Given the description of an element on the screen output the (x, y) to click on. 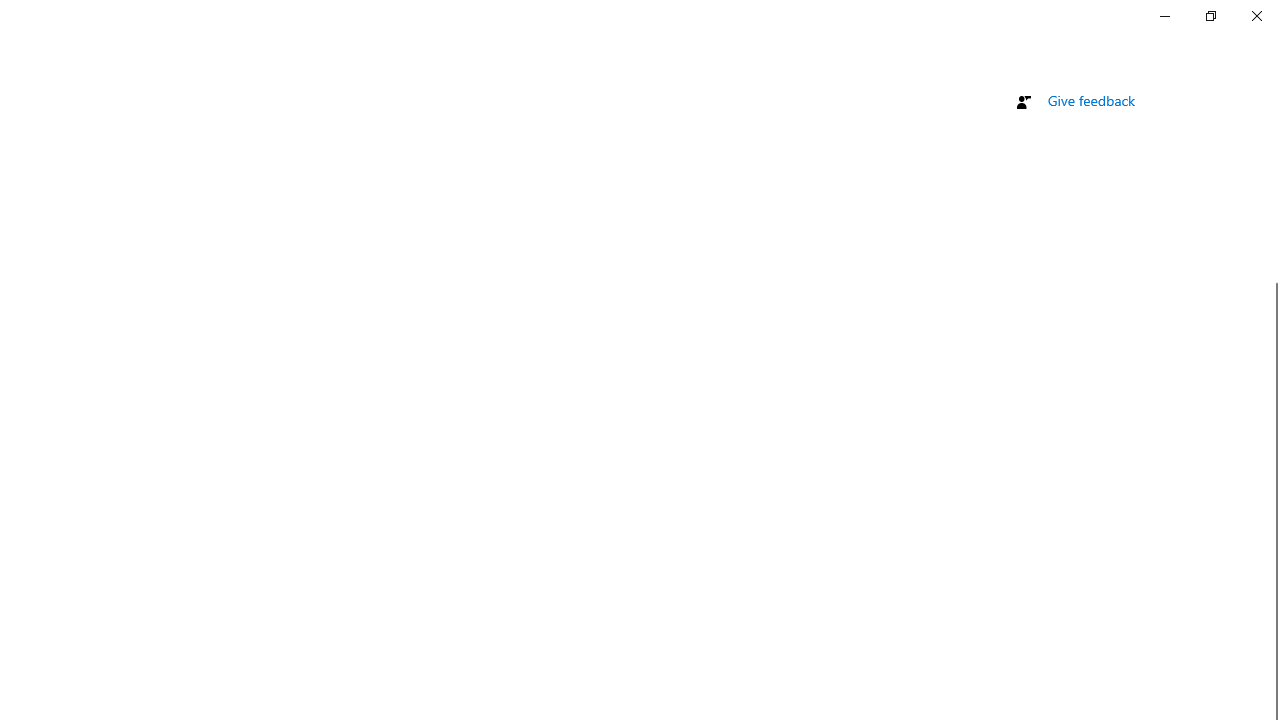
Get help (1074, 69)
Privacy statement (1070, 6)
Minimize Settings (1164, 15)
Close Settings (1256, 15)
Restore Settings (1210, 15)
Give feedback (1091, 100)
Vertical Small Decrease (1272, 103)
Vertical Large Decrease (1272, 197)
